Given the description of an element on the screen output the (x, y) to click on. 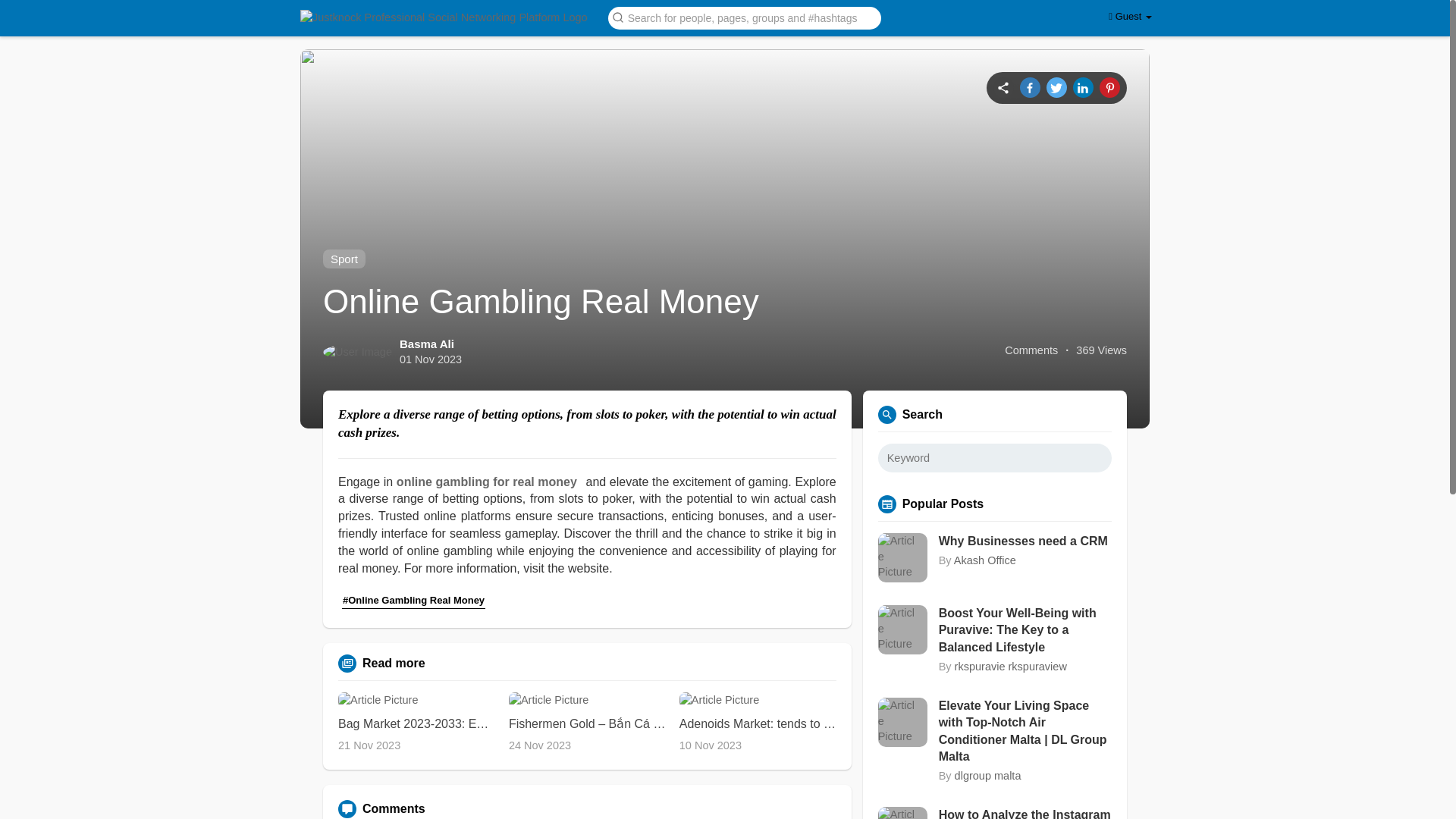
online gambling for real money (489, 481)
Why Businesses need a CRM (1025, 541)
Twitter (1056, 86)
Basma Ali (426, 343)
Timeline (1002, 86)
Facebook (1029, 86)
How to Analyze the Instagram Competitor (1025, 812)
rkspuravie rkspuraview (1011, 666)
Comments (1031, 350)
Pinterest (1109, 86)
dlgroup malta (988, 775)
Akash Office (984, 560)
Linkedin (1082, 86)
